Given the description of an element on the screen output the (x, y) to click on. 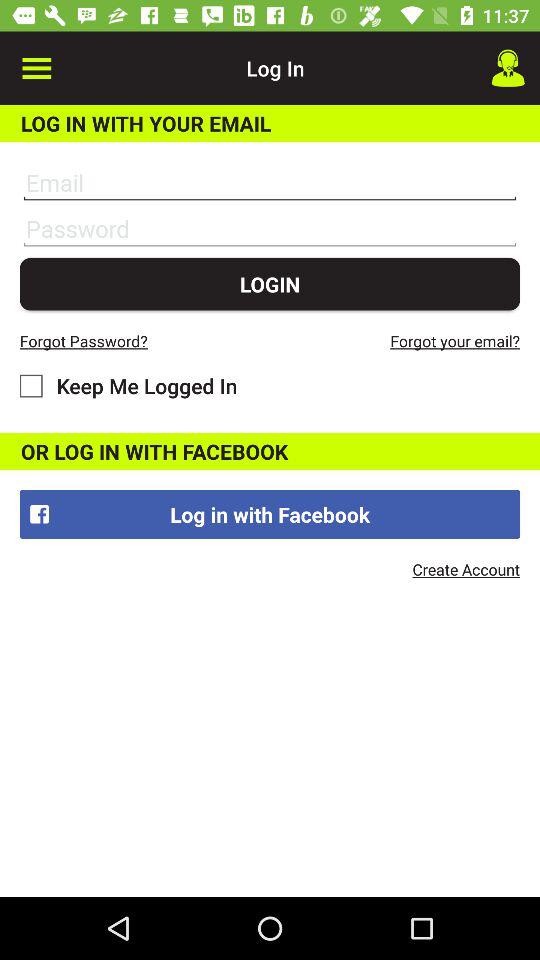
turn on the icon at the top right corner (508, 67)
